Given the description of an element on the screen output the (x, y) to click on. 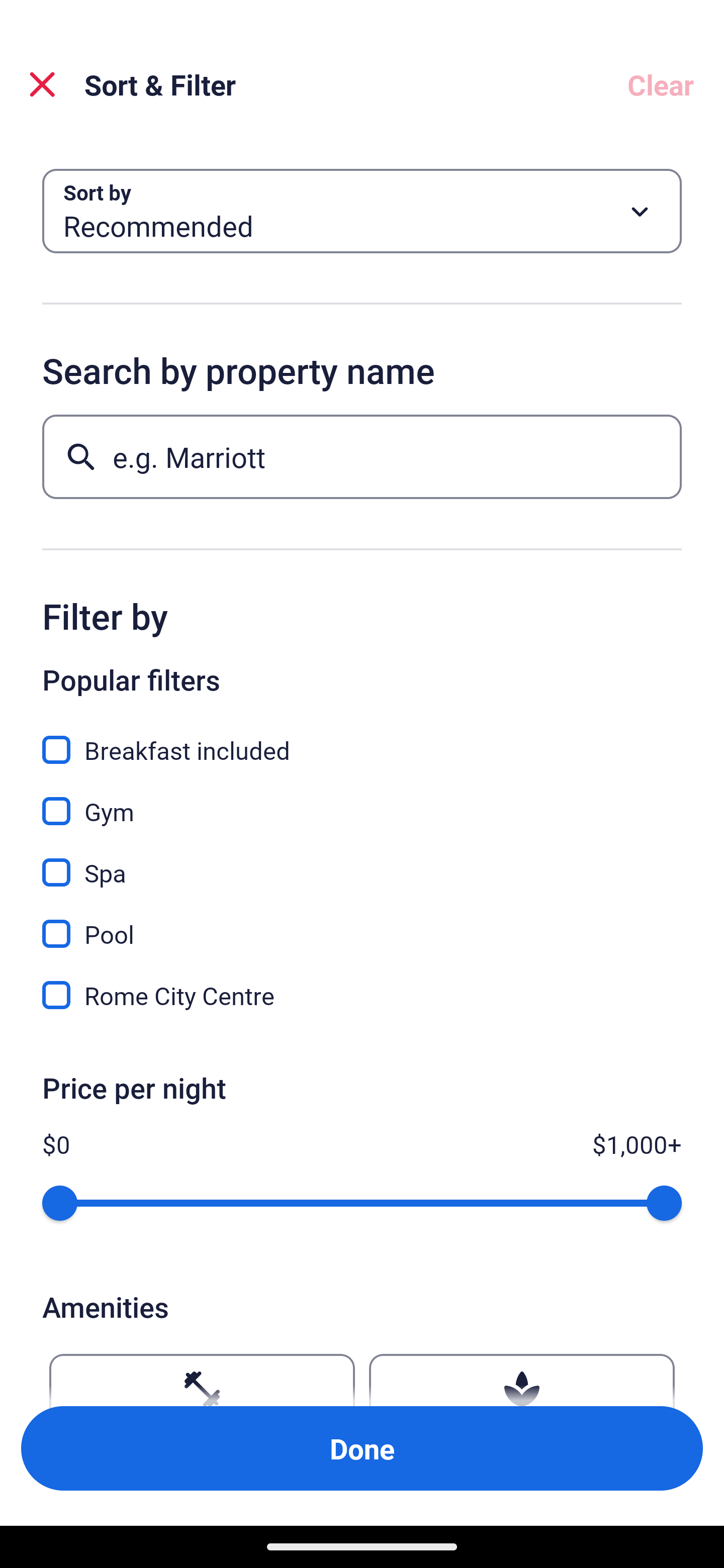
Close Sort and Filter (42, 84)
Clear (660, 84)
Sort by Button Recommended (361, 211)
e.g. Marriott Button (361, 455)
Breakfast included, Breakfast included (361, 738)
Gym, Gym (361, 800)
Spa, Spa (361, 861)
Pool, Pool (361, 922)
Rome City Centre, Rome City Centre (361, 995)
Apply and close Sort and Filter Done (361, 1448)
